Given the description of an element on the screen output the (x, y) to click on. 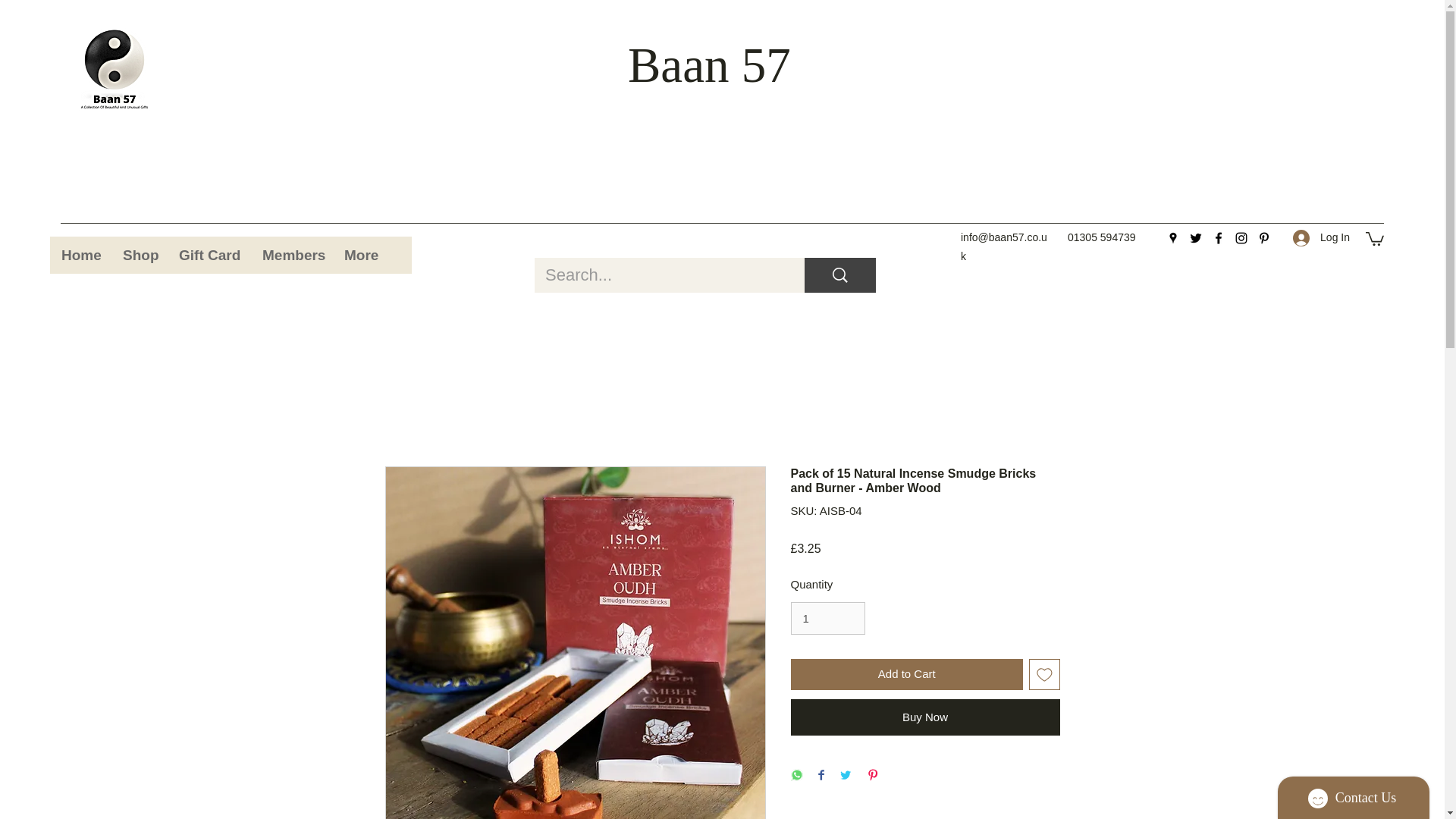
Home (79, 254)
Shop (138, 254)
Members (290, 254)
1 (827, 618)
Baan 57 (708, 64)
Gift Card (208, 254)
